Given the description of an element on the screen output the (x, y) to click on. 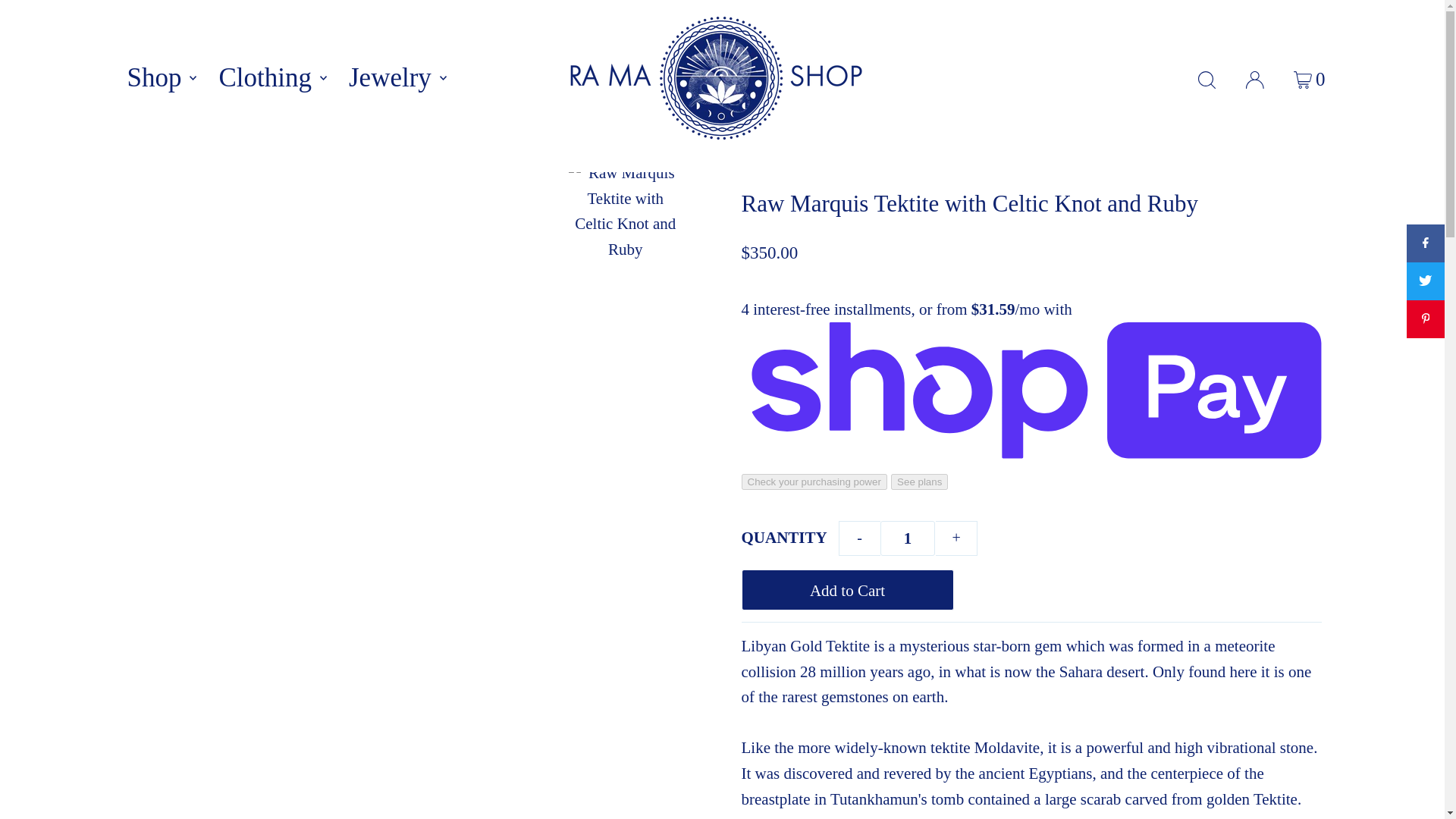
1 (907, 538)
Add to Cart (847, 589)
Shop (159, 77)
